Given the description of an element on the screen output the (x, y) to click on. 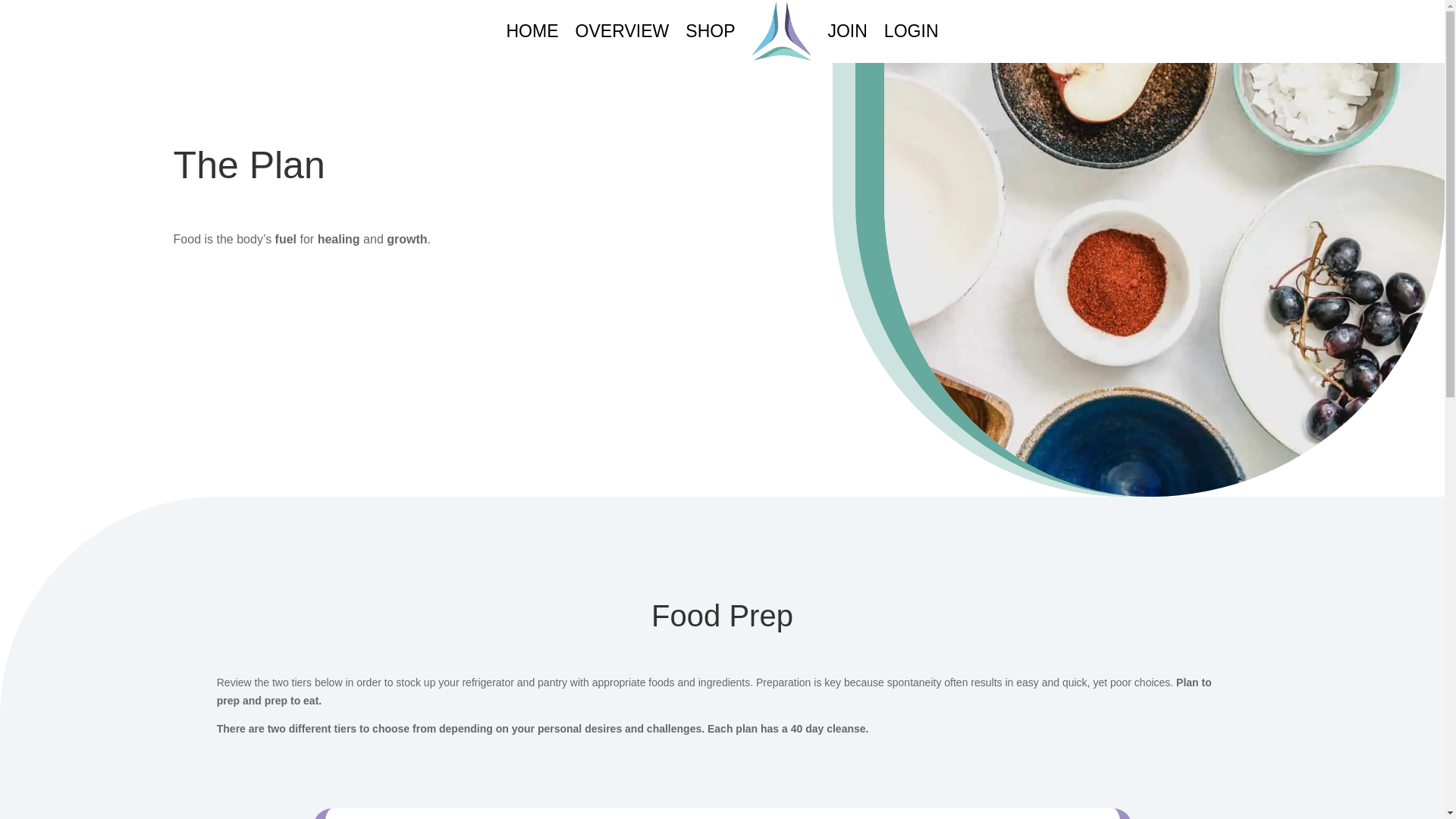
LOGIN (911, 31)
OVERVIEW (622, 31)
HOME (531, 31)
